Given the description of an element on the screen output the (x, y) to click on. 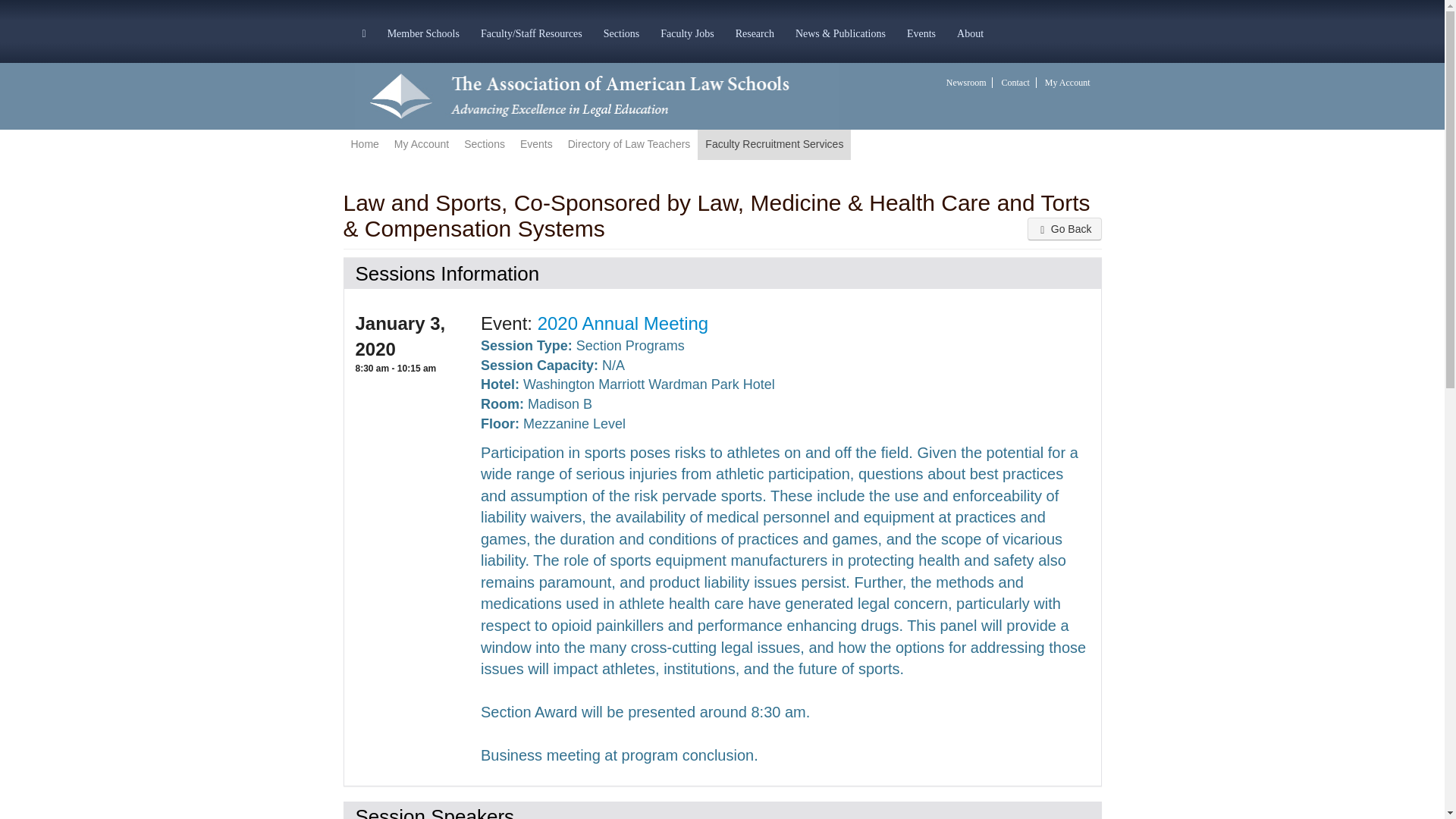
Home (363, 144)
Events Top (536, 144)
My Information (422, 144)
Directory of Law Teachers (629, 144)
Member Schools (423, 31)
Faculty Recruitment Services (773, 144)
Go to the AALS.org home page (596, 95)
Sections (484, 144)
Faculty Jobs (686, 31)
